Given the description of an element on the screen output the (x, y) to click on. 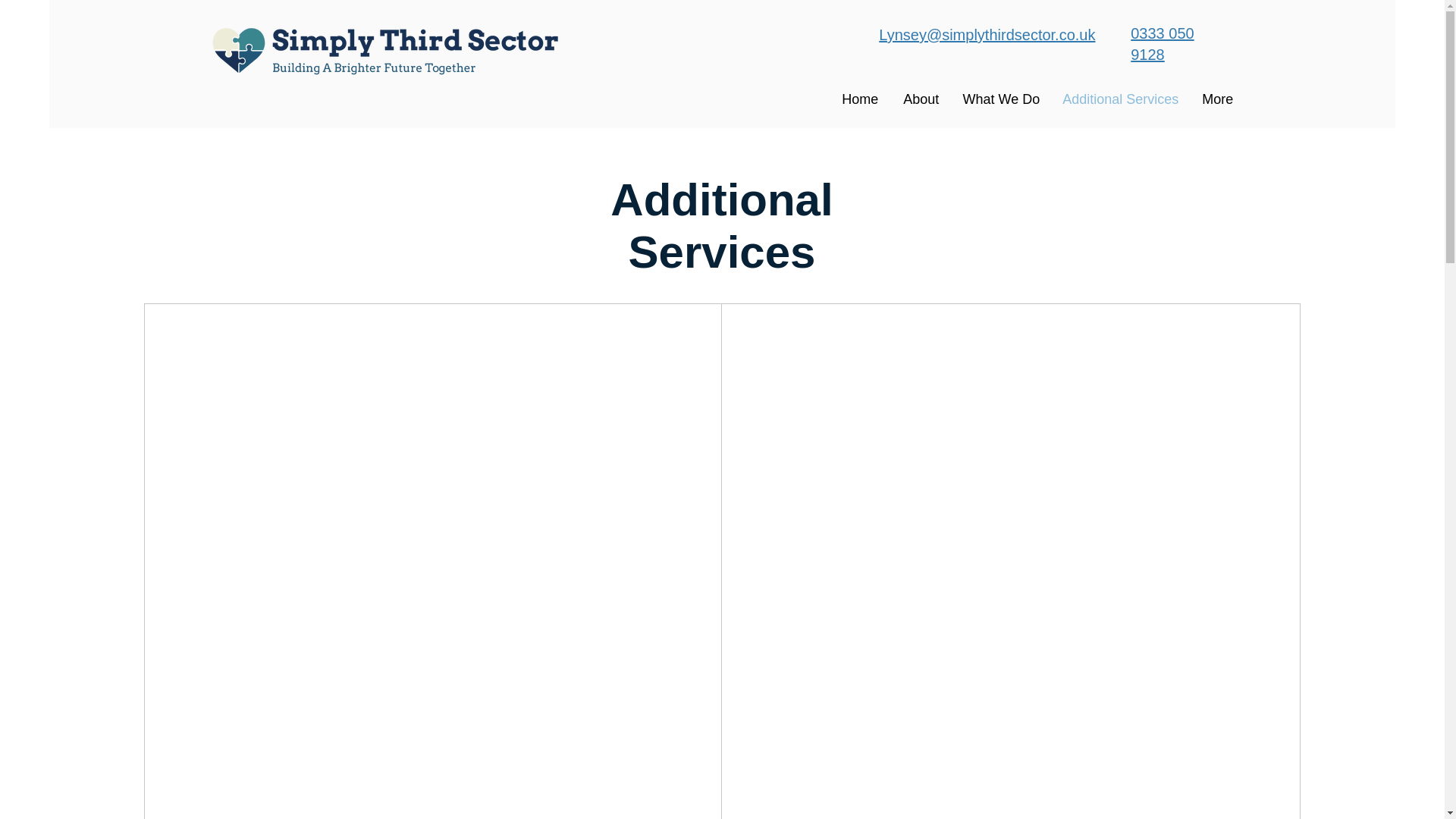
Home (859, 98)
About (919, 98)
0333 050 9128 (1162, 44)
Additional Services (1120, 98)
What We Do (1000, 98)
